Given the description of an element on the screen output the (x, y) to click on. 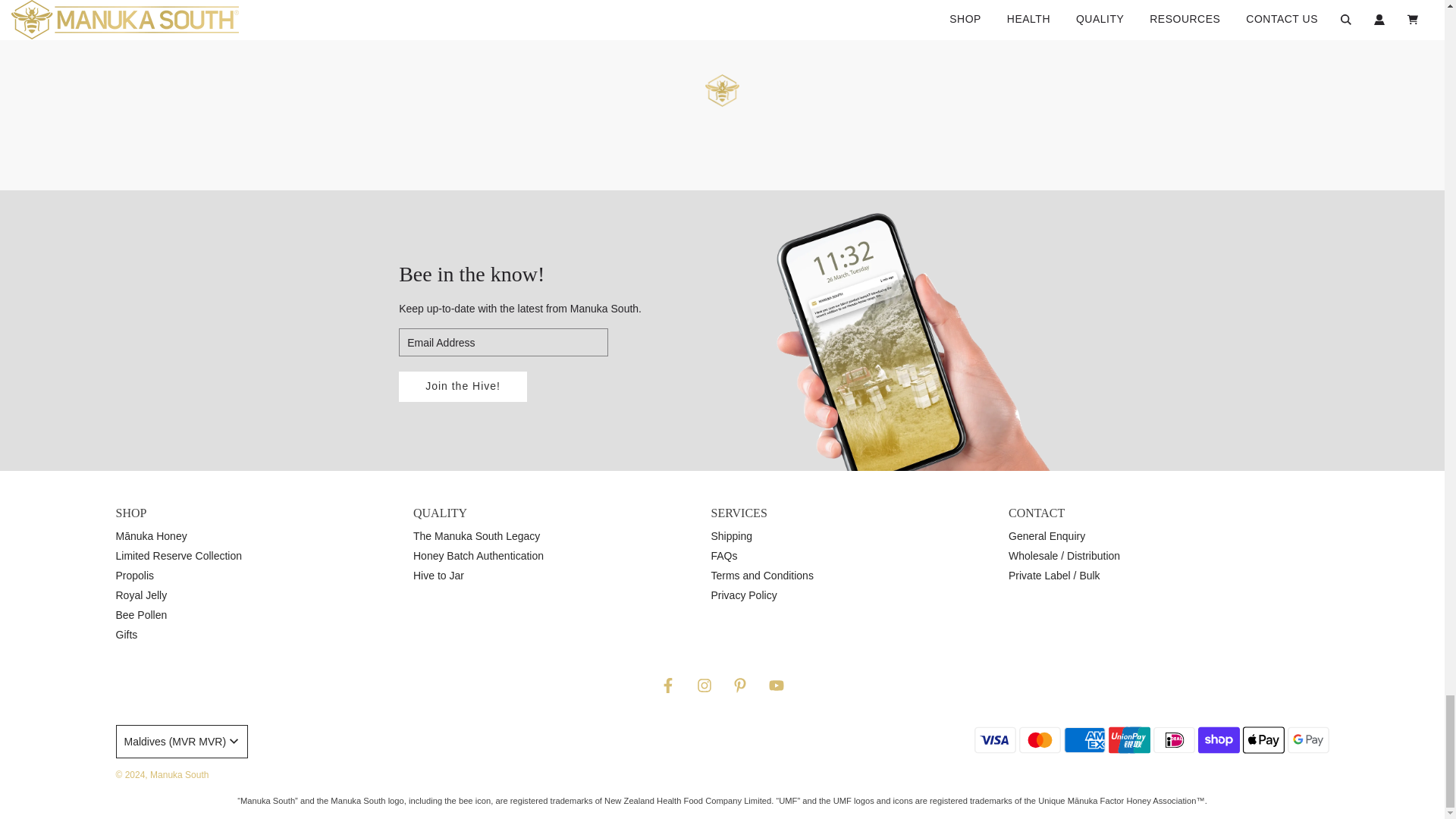
Shop Pay (1219, 739)
Apple Pay (1262, 739)
Union Pay (1129, 739)
American Express (1083, 739)
Visa (994, 739)
iDEAL (1173, 739)
Mastercard (1040, 739)
Google Pay (1308, 739)
